Given the description of an element on the screen output the (x, y) to click on. 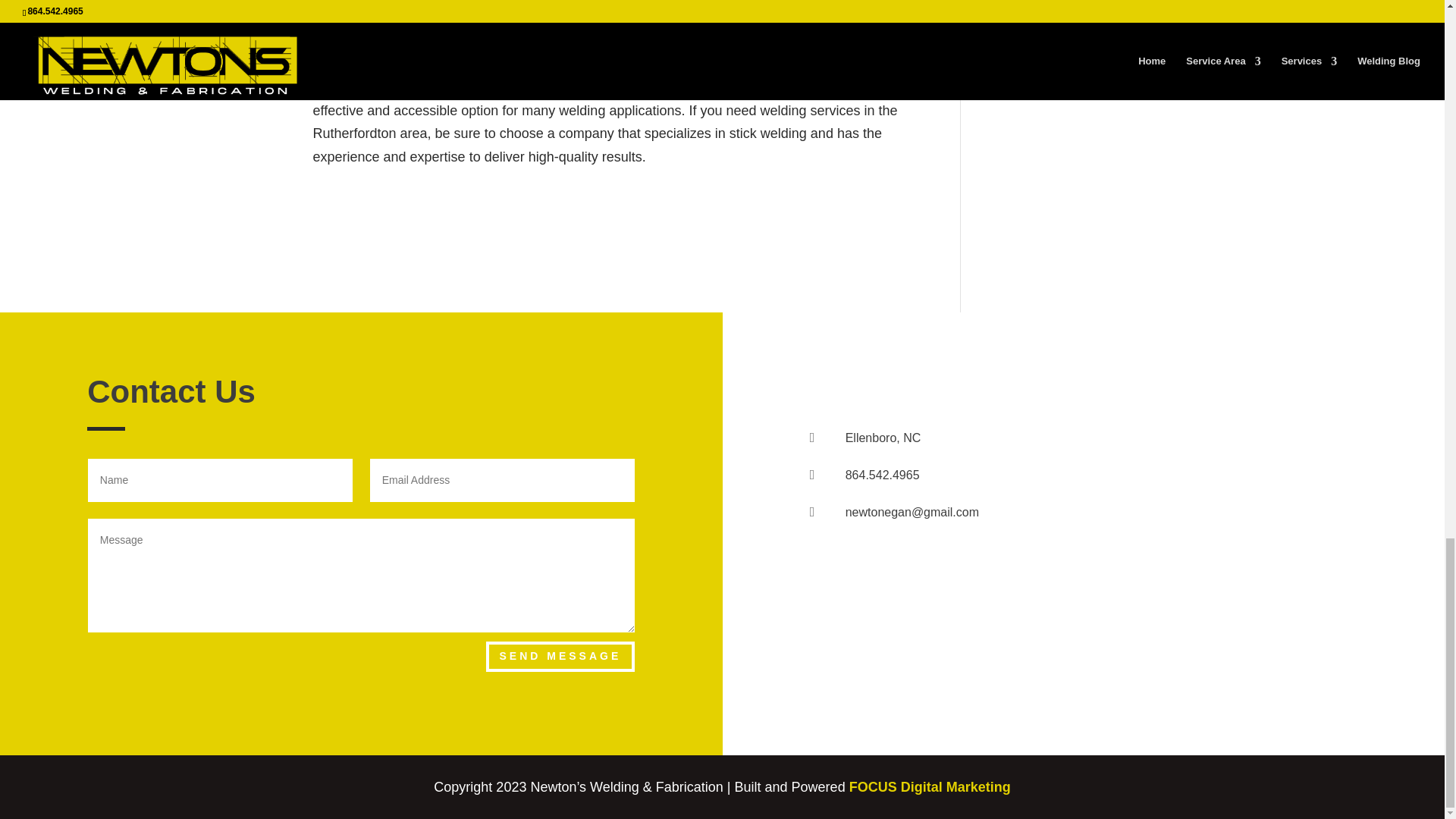
FOCUS Digital Marketing (929, 786)
864.542.4965 (882, 474)
SEND MESSAGE (559, 656)
